Given the description of an element on the screen output the (x, y) to click on. 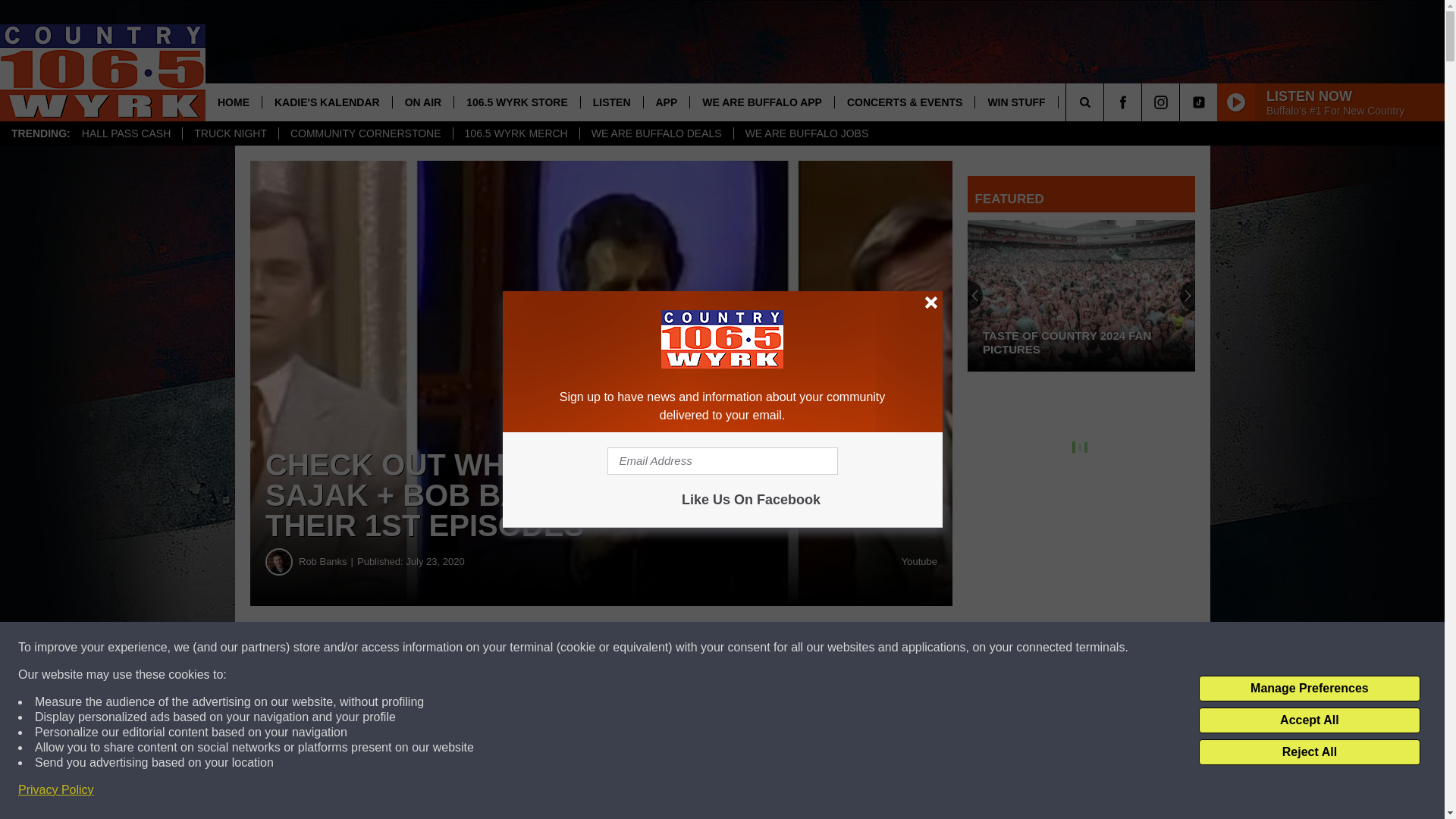
TRUCK NIGHT (230, 133)
WE ARE BUFFALO APP (761, 102)
Accept All (1309, 720)
HOME (233, 102)
LISTEN (611, 102)
ON AIR (421, 102)
106.5 WYRK STORE (515, 102)
SEARCH (1106, 102)
KADIE'S KALENDAR (326, 102)
106.5 WYRK MERCH (515, 133)
Share on Facebook (600, 647)
Privacy Policy (55, 789)
APP (666, 102)
Manage Preferences (1309, 688)
Reject All (1309, 751)
